Given the description of an element on the screen output the (x, y) to click on. 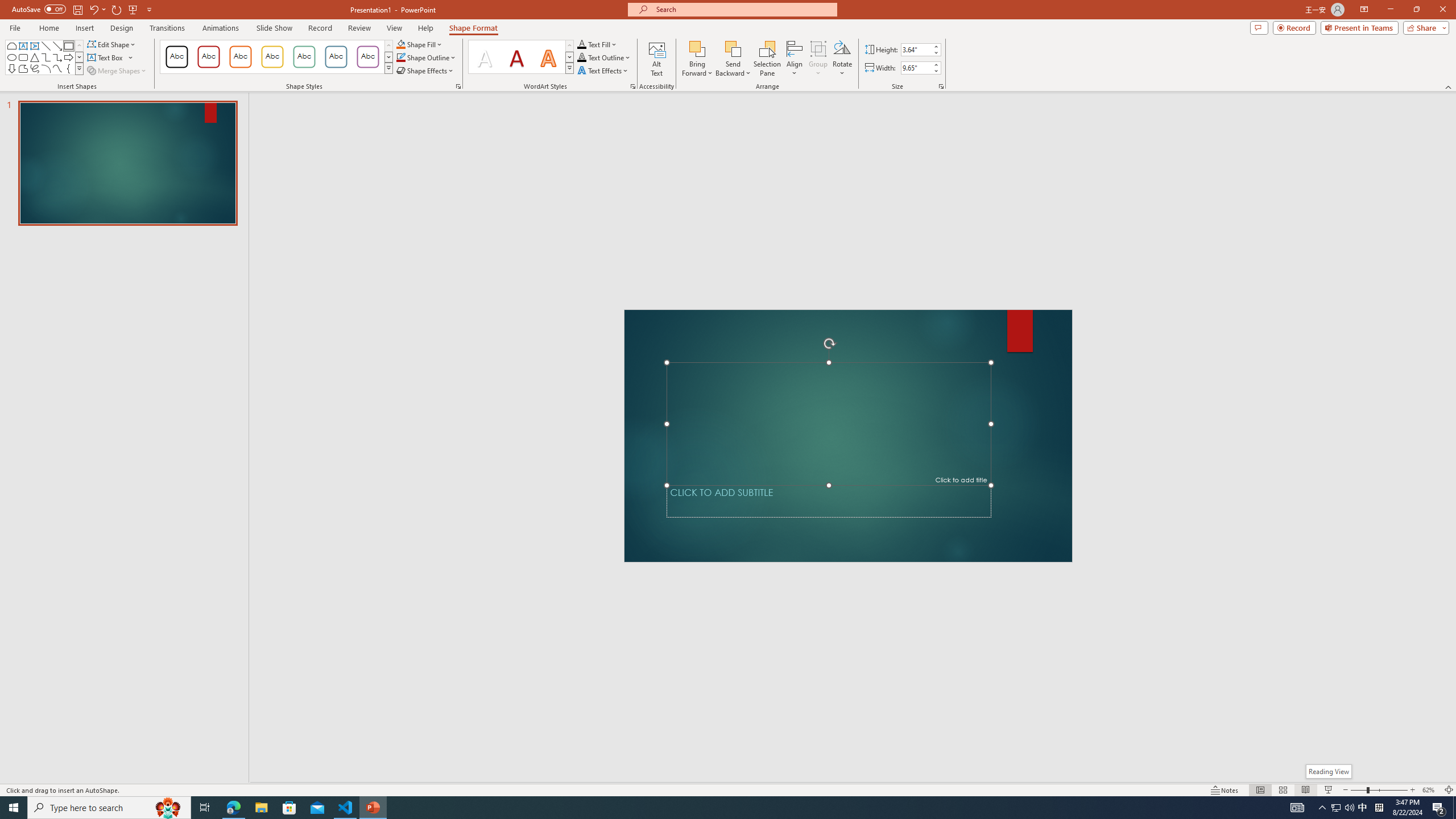
Collapse the Ribbon (1448, 86)
Insert (83, 28)
Format Object... (458, 85)
Freeform: Shape (23, 68)
Group (817, 58)
Colored Outline - Blue-Gray, Accent 5 (336, 56)
Draw Horizontal Text Box (105, 56)
AutomationID: TextStylesGallery (521, 56)
Shape Height (915, 49)
Fill: Dark Red, Accent color 1; Shadow (516, 56)
Text Outline (604, 56)
Rectangle (68, 45)
Rotate (841, 58)
